Given the description of an element on the screen output the (x, y) to click on. 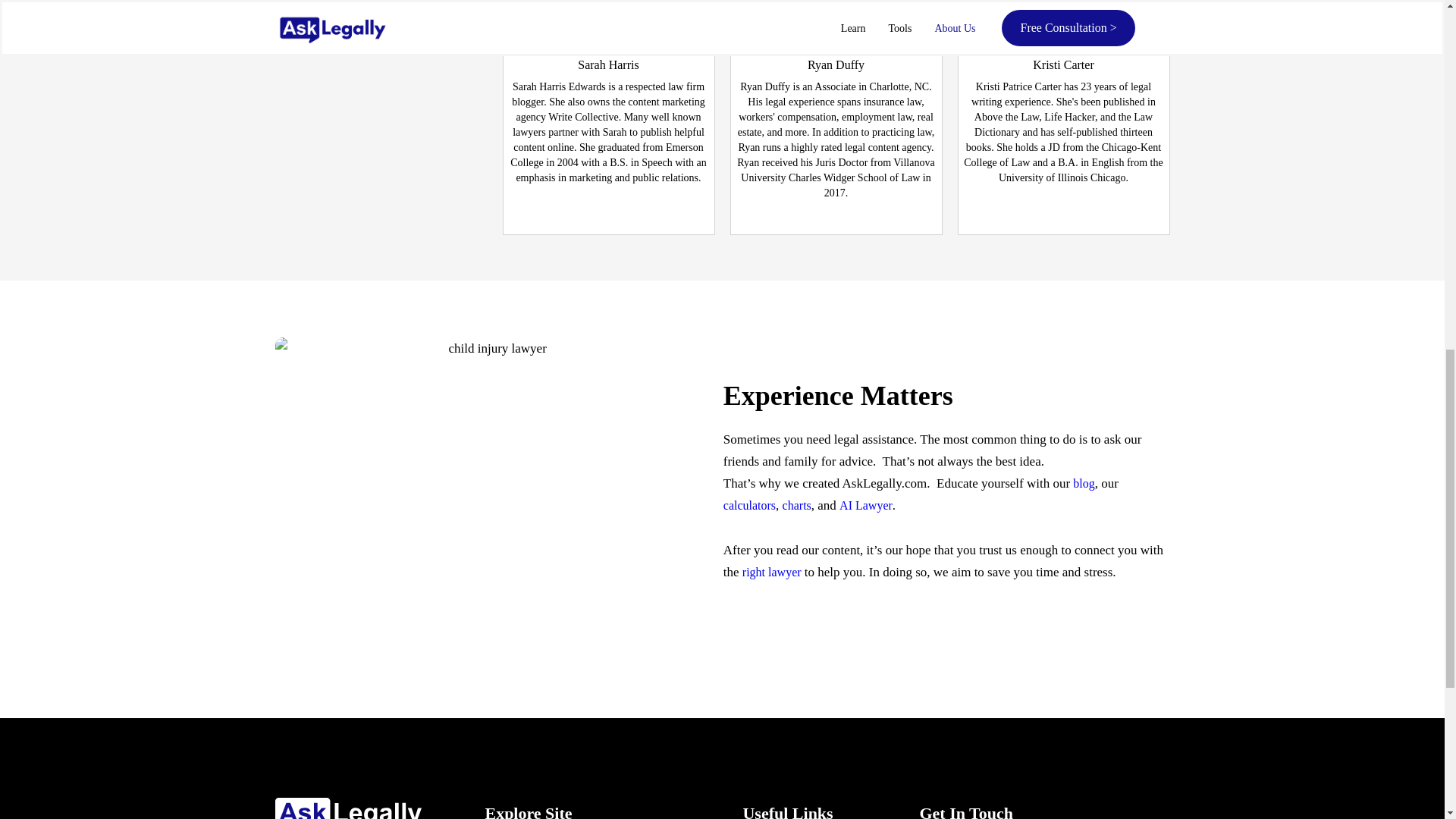
Sarah Harris (608, 64)
Ryan Duffy (836, 64)
